Given the description of an element on the screen output the (x, y) to click on. 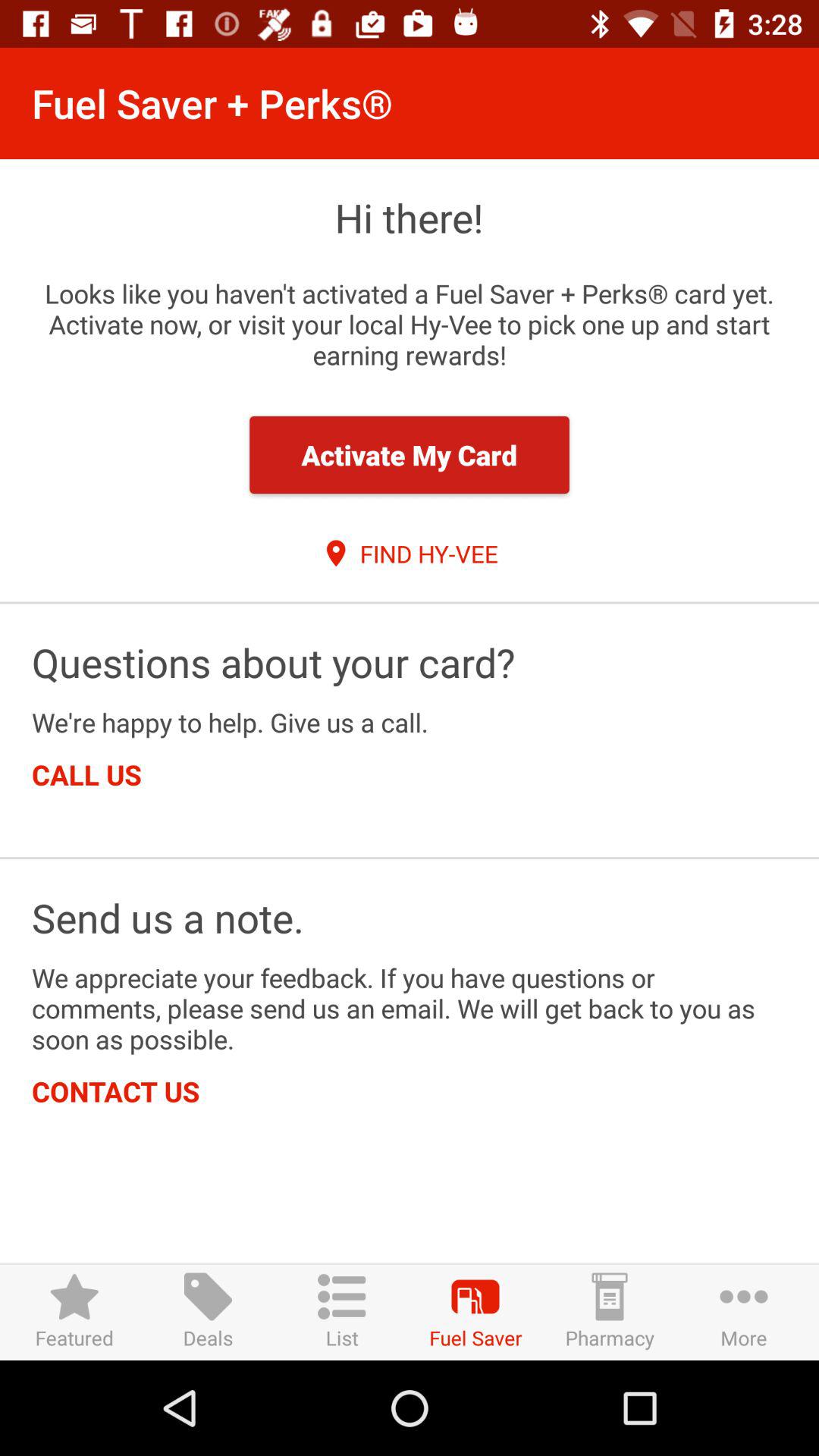
press the icon to the left of the deals icon (74, 1311)
